Given the description of an element on the screen output the (x, y) to click on. 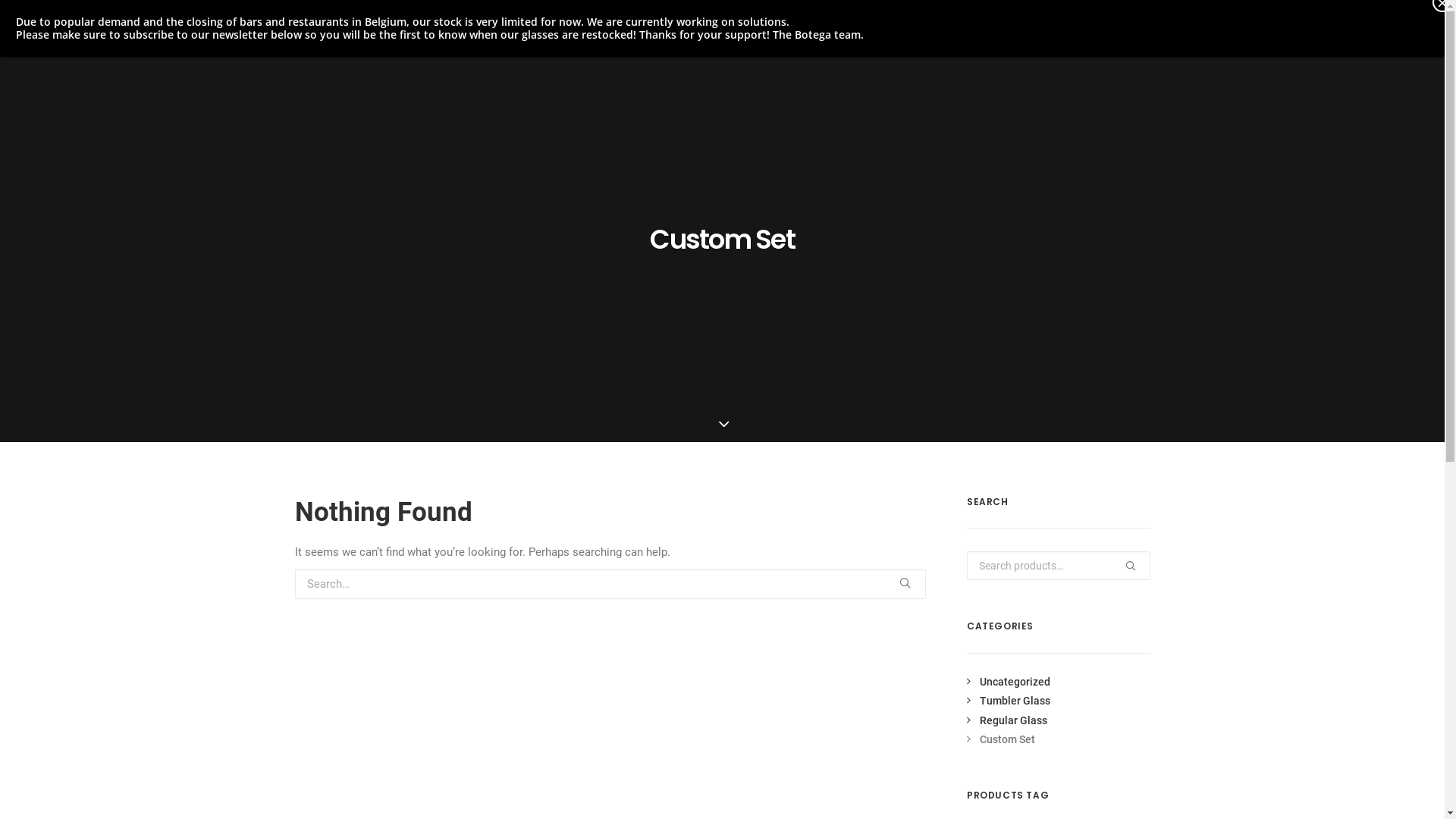
Tumbler Glass Element type: text (1008, 700)
cart Element type: hover (1410, 33)
Uncategorized Element type: text (1008, 681)
Search for: Element type: hover (609, 583)
Regular Glass Element type: text (1006, 720)
Search Element type: hover (1058, 565)
Custom Set Element type: text (1000, 739)
